Given the description of an element on the screen output the (x, y) to click on. 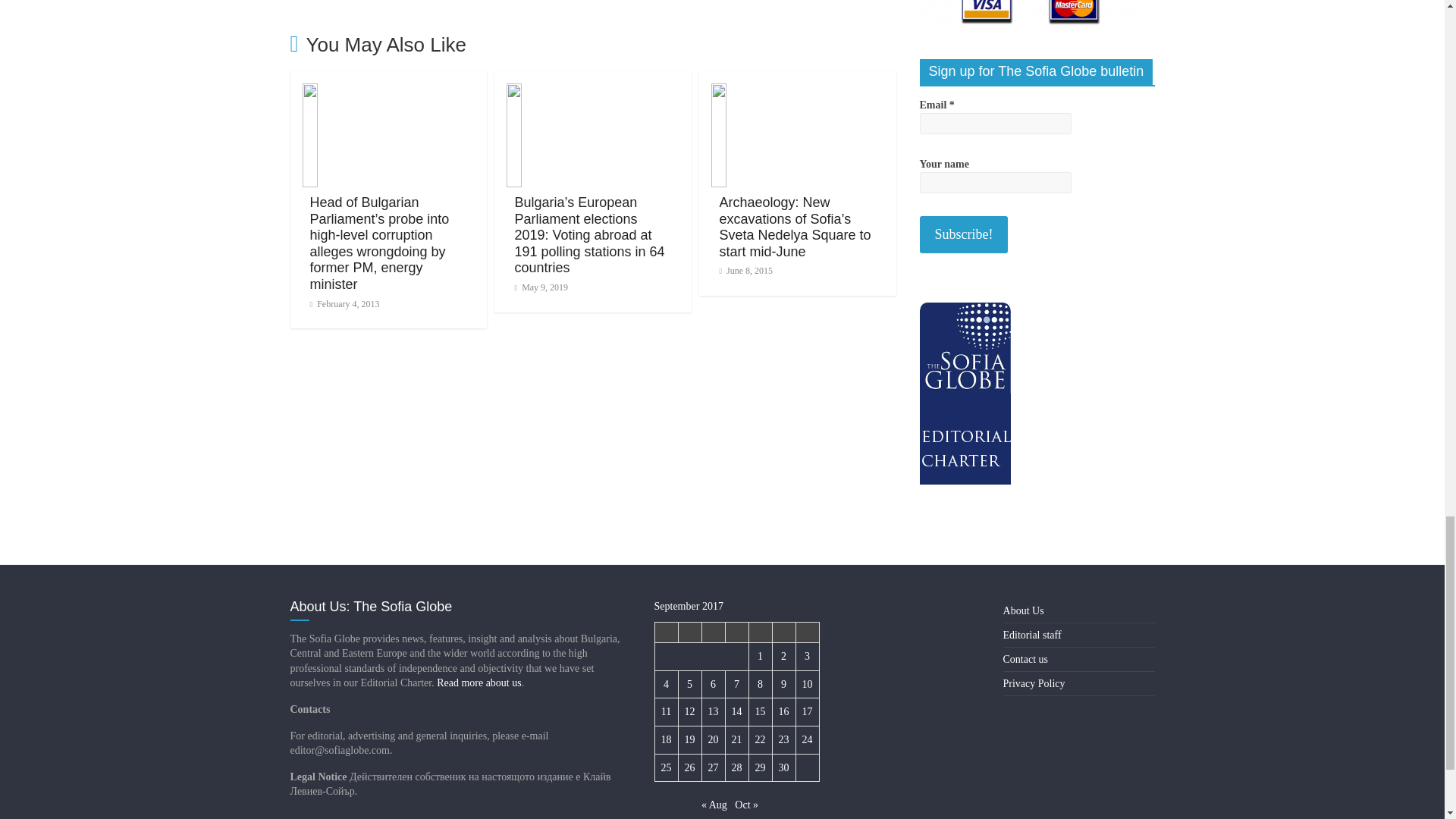
February 4, 2013 (343, 303)
4:00 PM (540, 286)
June 8, 2015 (746, 270)
3:46 PM (343, 303)
May 9, 2019 (540, 286)
Subscribe! (962, 234)
